Given the description of an element on the screen output the (x, y) to click on. 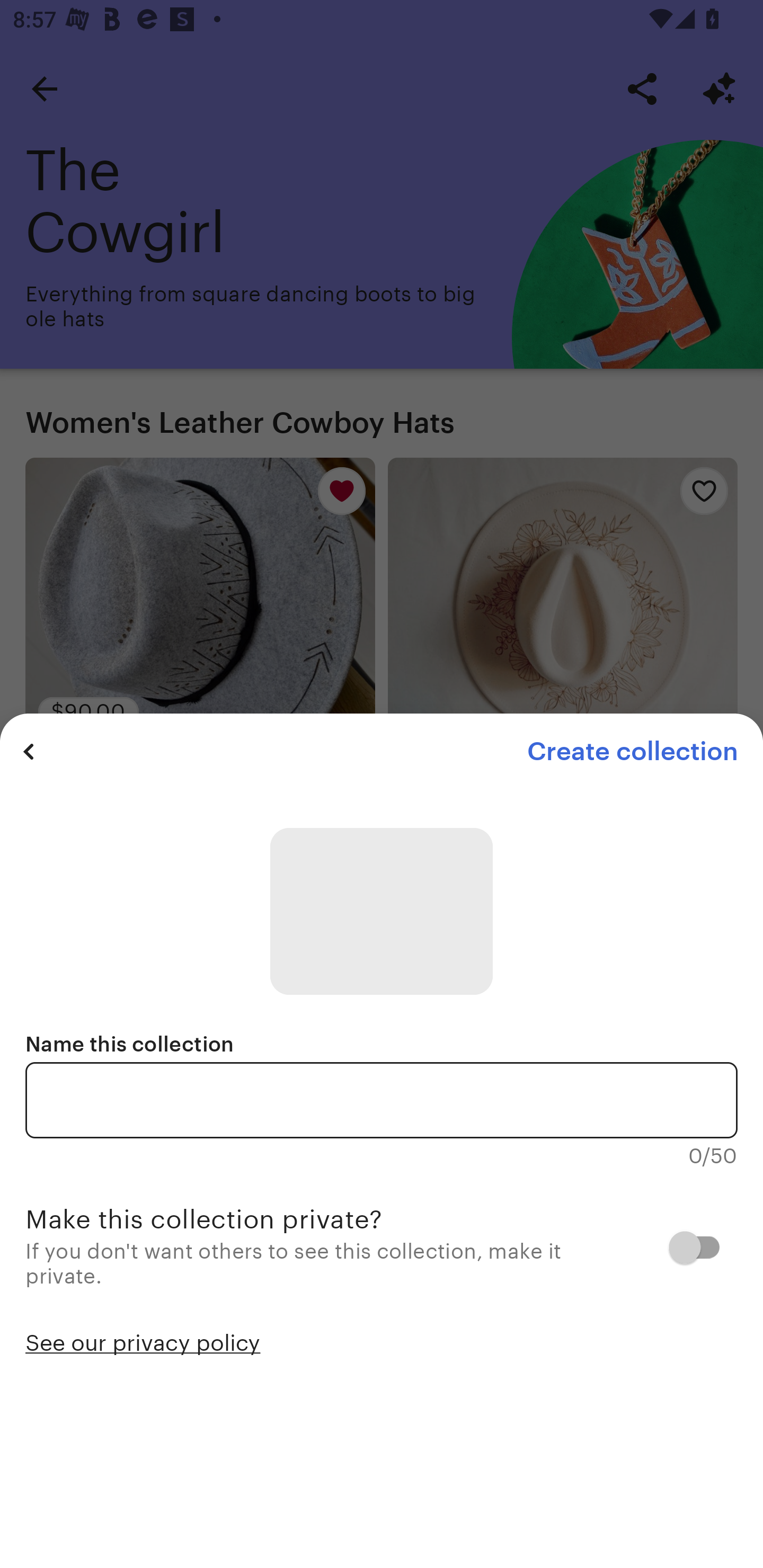
Previous (28, 751)
Create collection (632, 751)
See our privacy policy (142, 1341)
